Given the description of an element on the screen output the (x, y) to click on. 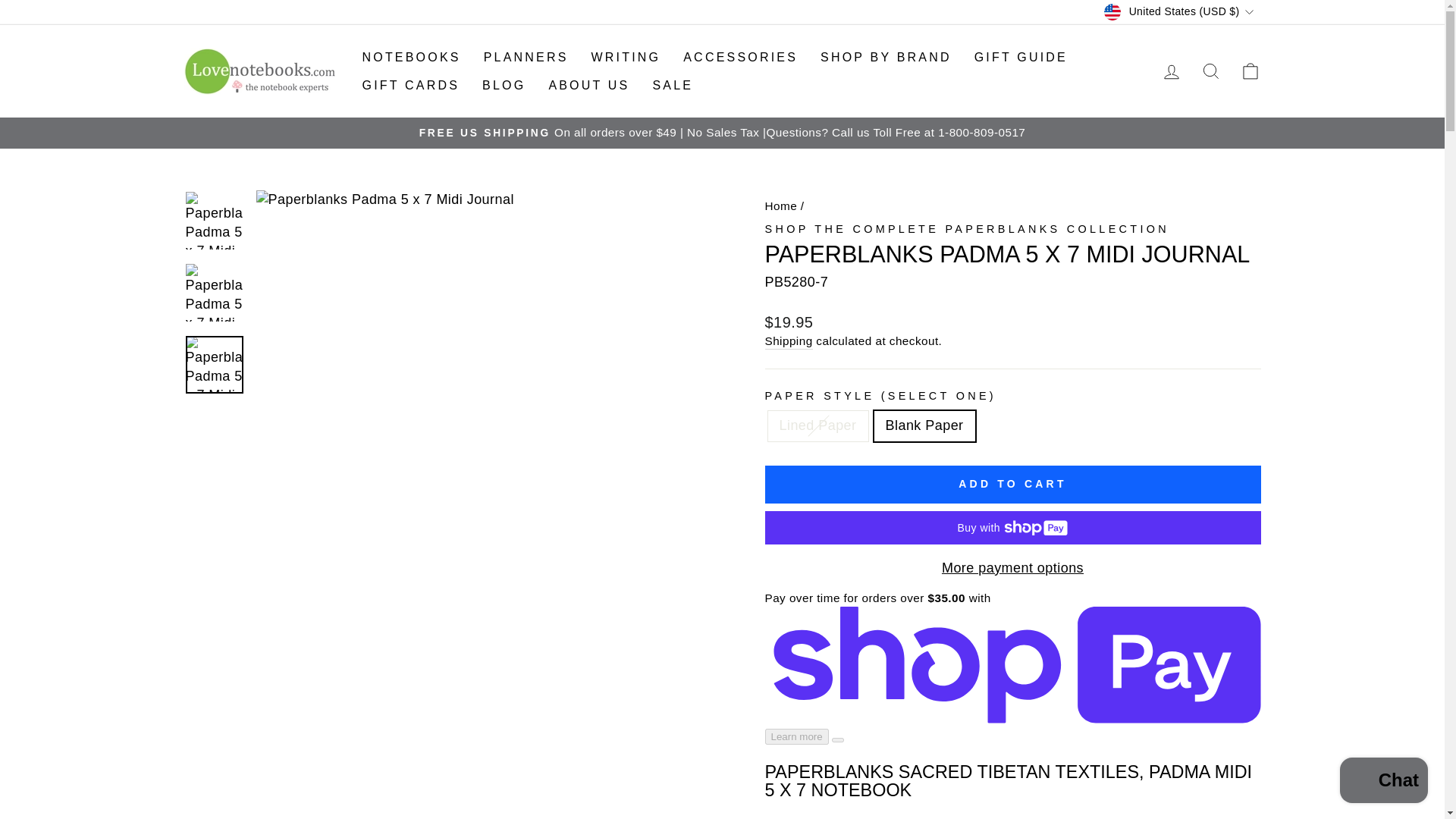
Back to the frontpage (780, 205)
Shopify online store chat (1383, 781)
